Given the description of an element on the screen output the (x, y) to click on. 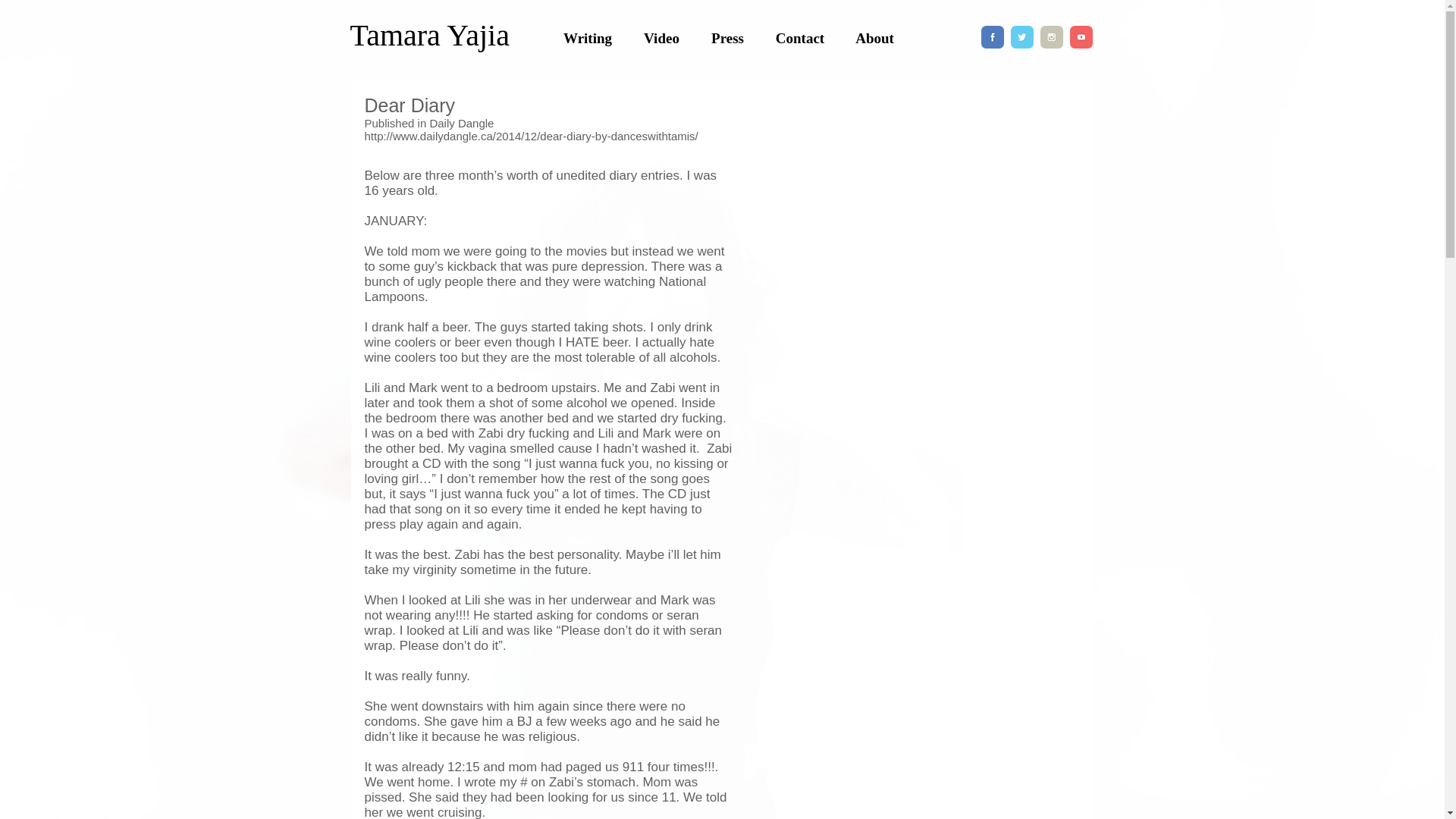
Writing (587, 38)
About (874, 38)
Tamara Yajia (429, 35)
Contact (800, 38)
Press (727, 38)
Video (661, 38)
